Given the description of an element on the screen output the (x, y) to click on. 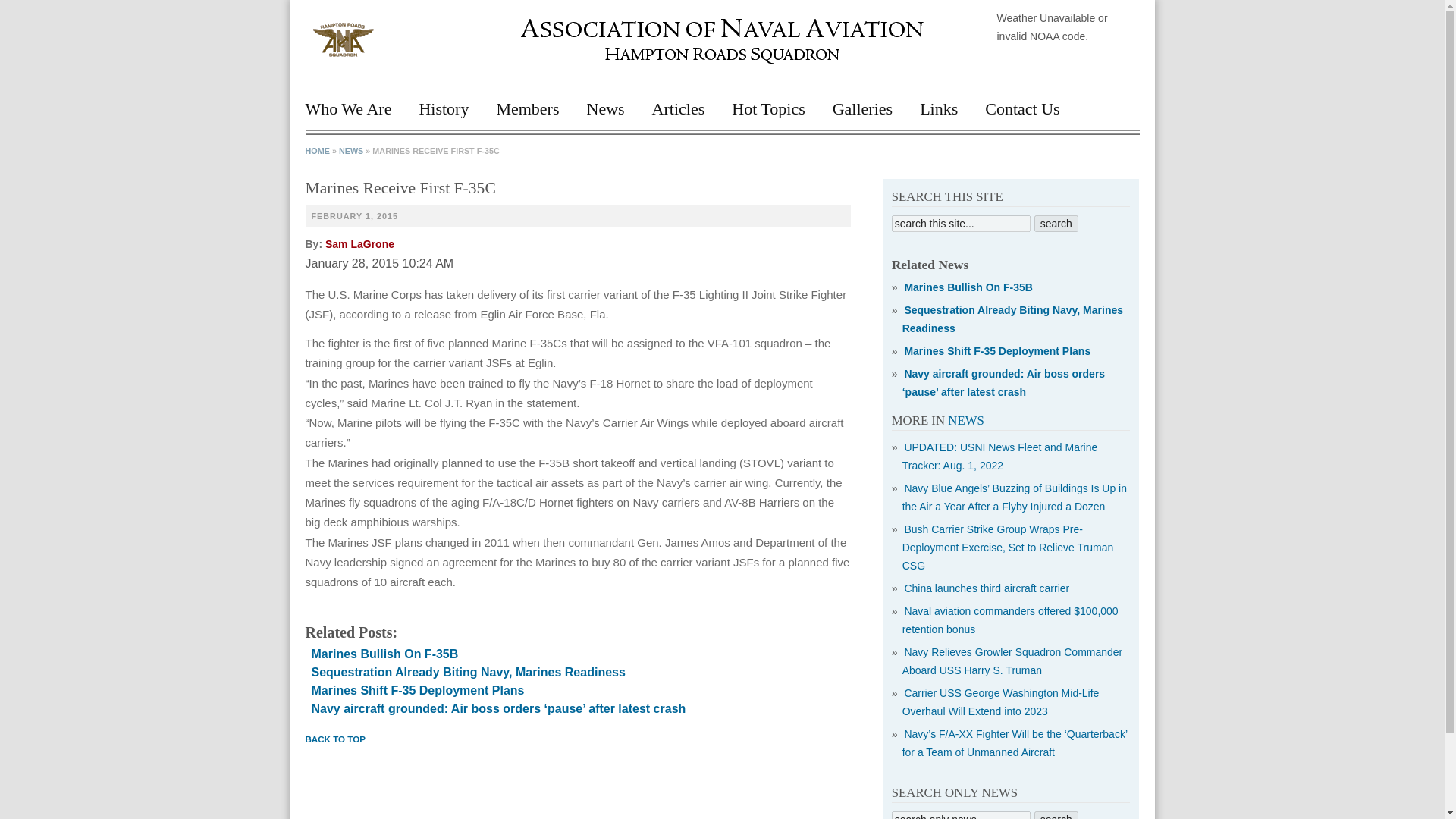
search (1055, 223)
search (1055, 223)
Who We Are (354, 114)
Sequestration Already Biting Navy, Marines Readiness (467, 671)
search only news... (960, 815)
search this site... (960, 223)
search (1055, 815)
China launches third aircraft carrier (983, 588)
